Given the description of an element on the screen output the (x, y) to click on. 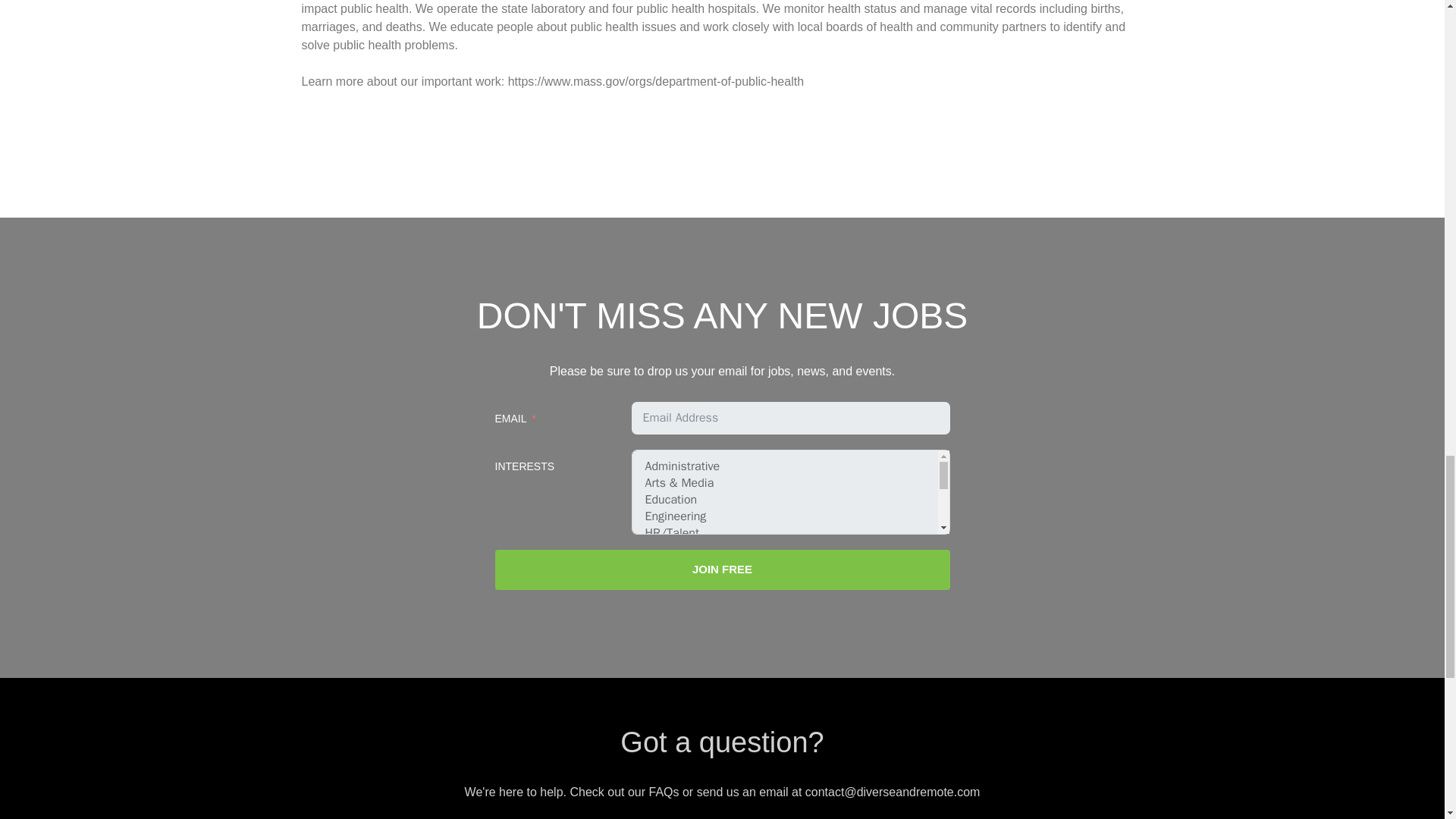
JOIN FREE (722, 569)
